Given the description of an element on the screen output the (x, y) to click on. 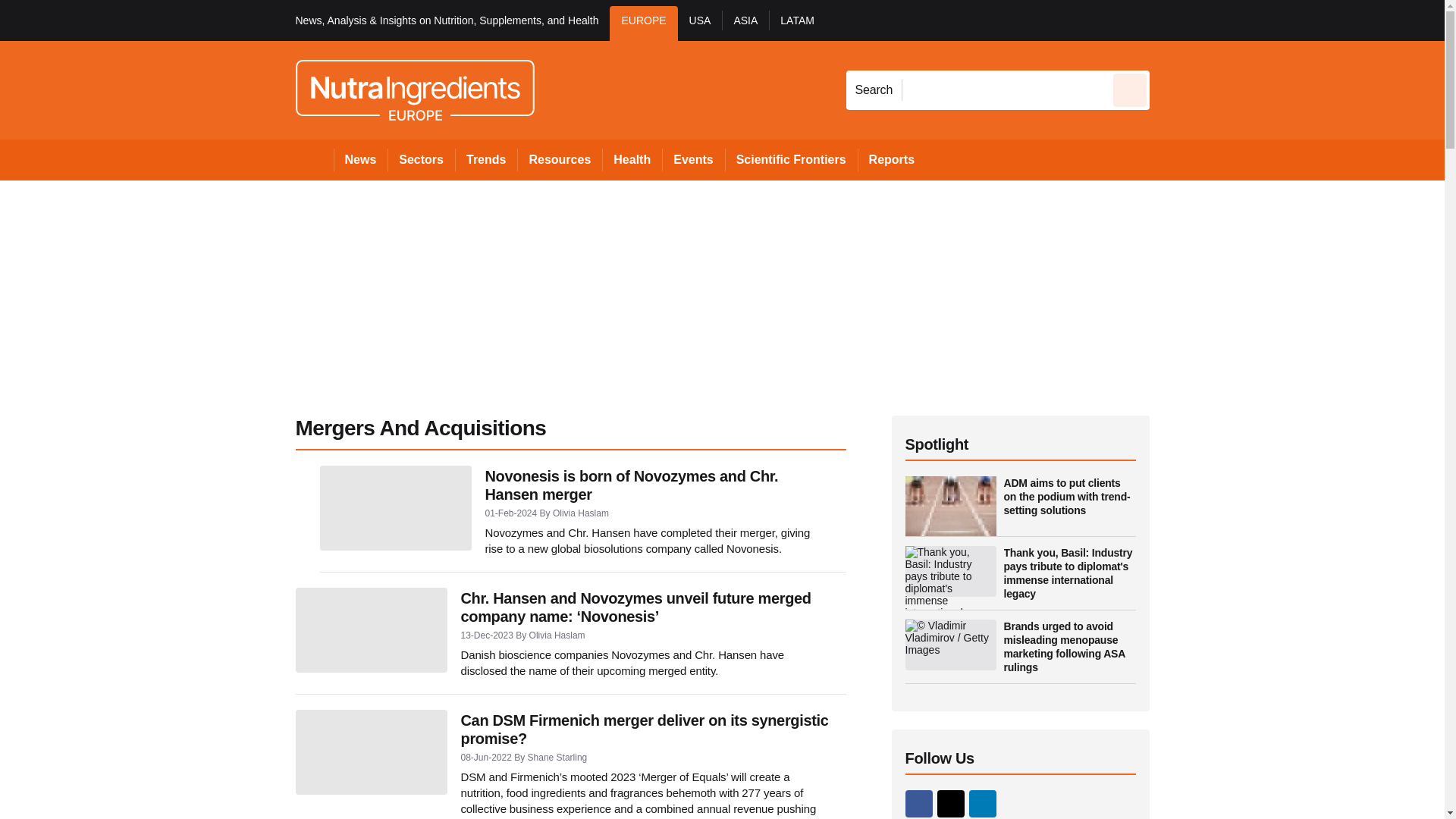
SUBSCRIBE (1318, 20)
Send (1129, 90)
View full article (370, 752)
Send (1129, 89)
My account (1256, 20)
Sign out (1174, 20)
News (360, 159)
Sectors (420, 159)
Home (314, 159)
